Given the description of an element on the screen output the (x, y) to click on. 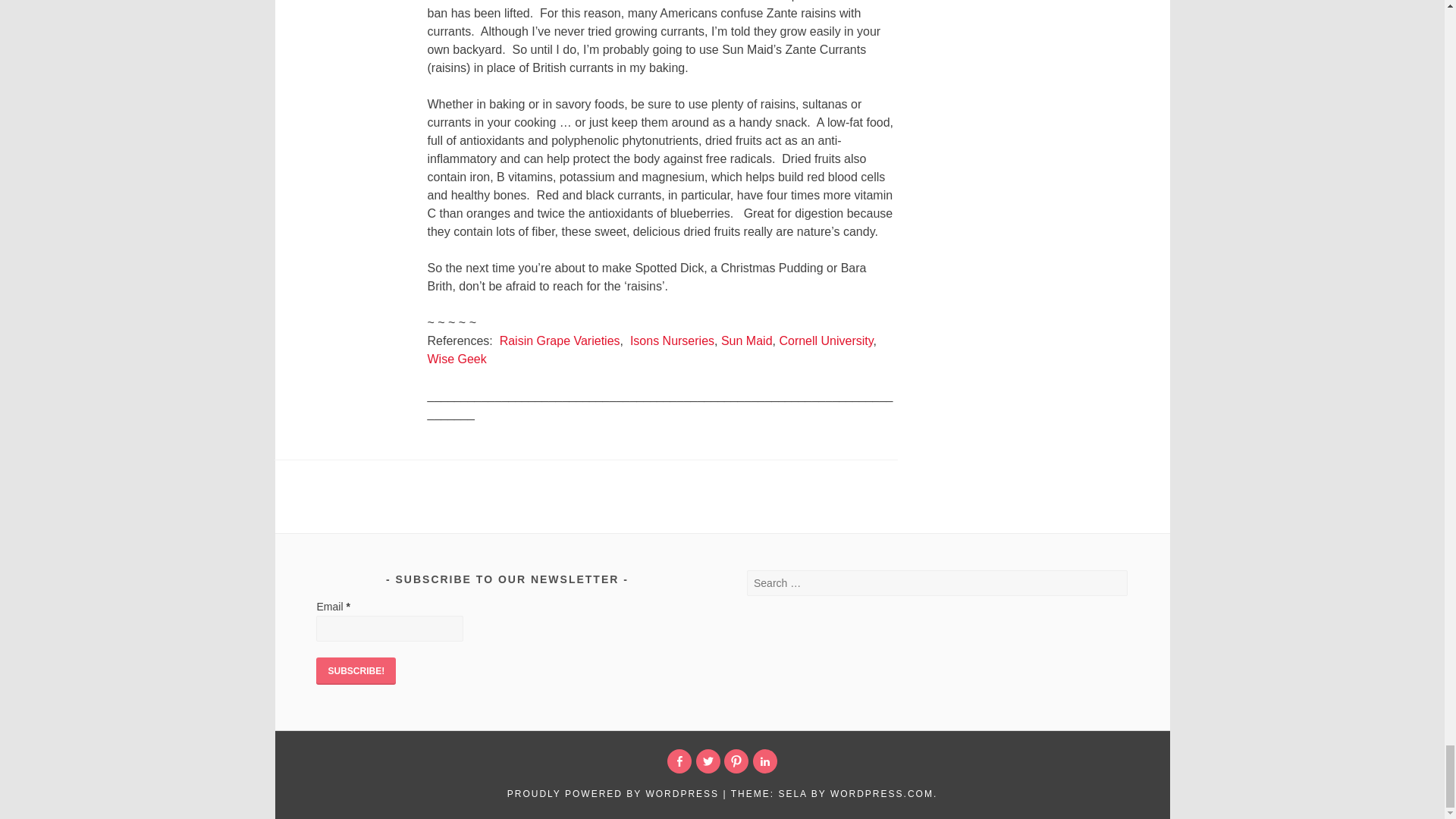
Subscribe! (355, 670)
